Given the description of an element on the screen output the (x, y) to click on. 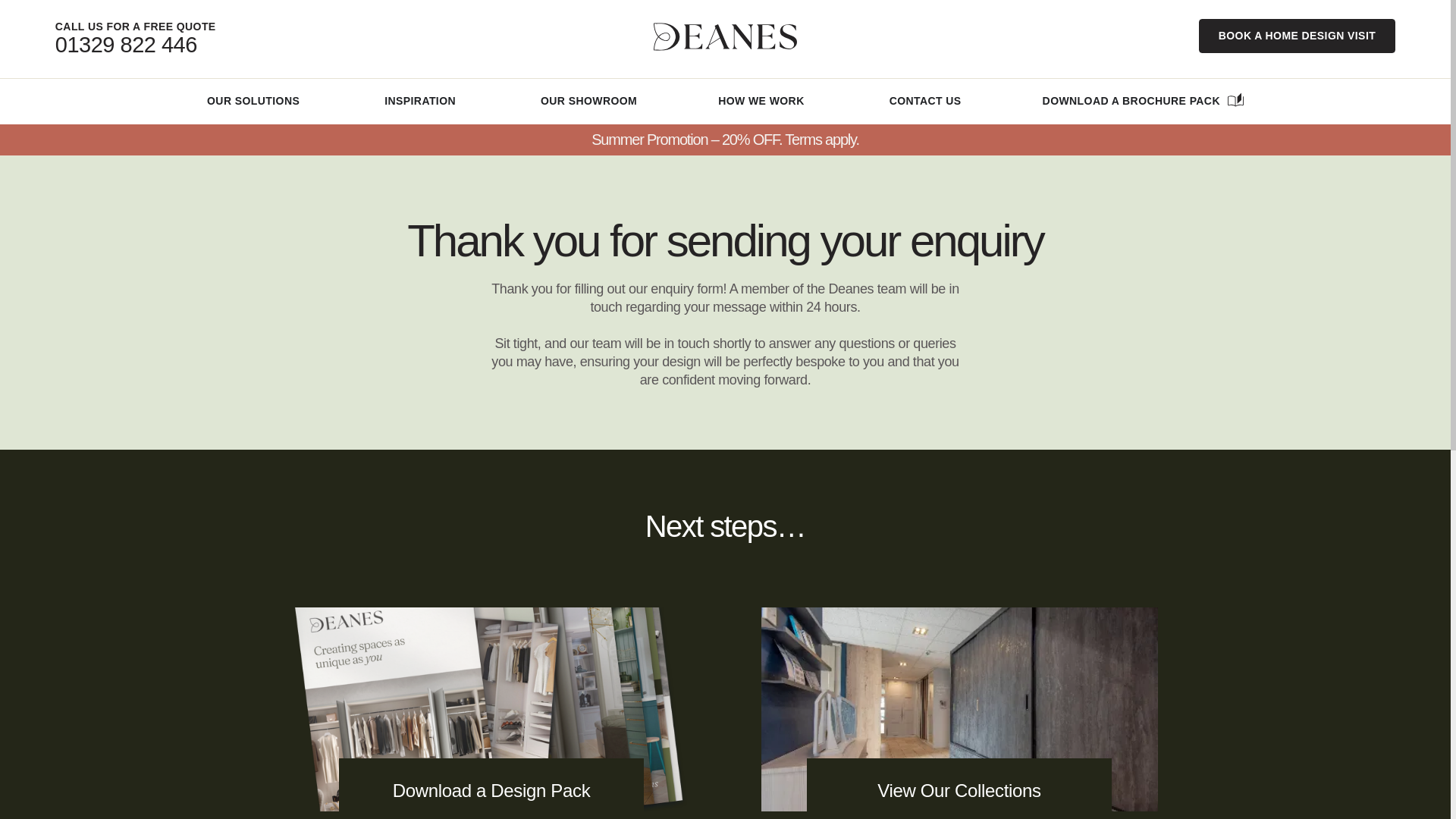
DOWNLOAD A BROCHURE PACK (1131, 100)
01329 822 446 (125, 44)
OUR SHOWROOM (588, 100)
BOOK A HOME DESIGN VISIT (1296, 35)
CONTACT US (924, 100)
